Given the description of an element on the screen output the (x, y) to click on. 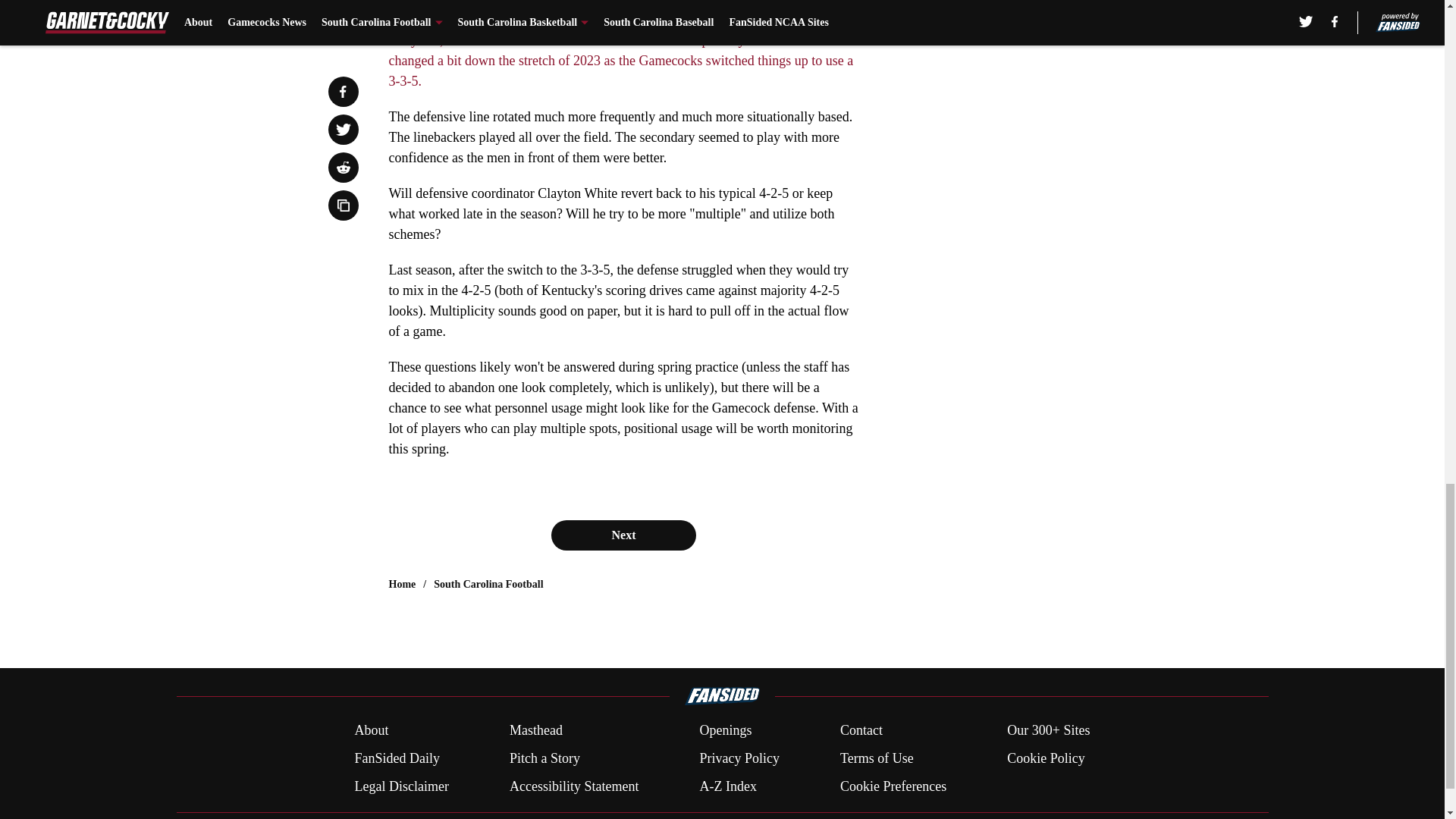
Contact (861, 730)
Pitch a Story (544, 758)
Next (622, 535)
Privacy Policy (738, 758)
Legal Disclaimer (400, 786)
Masthead (535, 730)
Terms of Use (877, 758)
Cookie Policy (1045, 758)
FanSided Daily (396, 758)
